Given the description of an element on the screen output the (x, y) to click on. 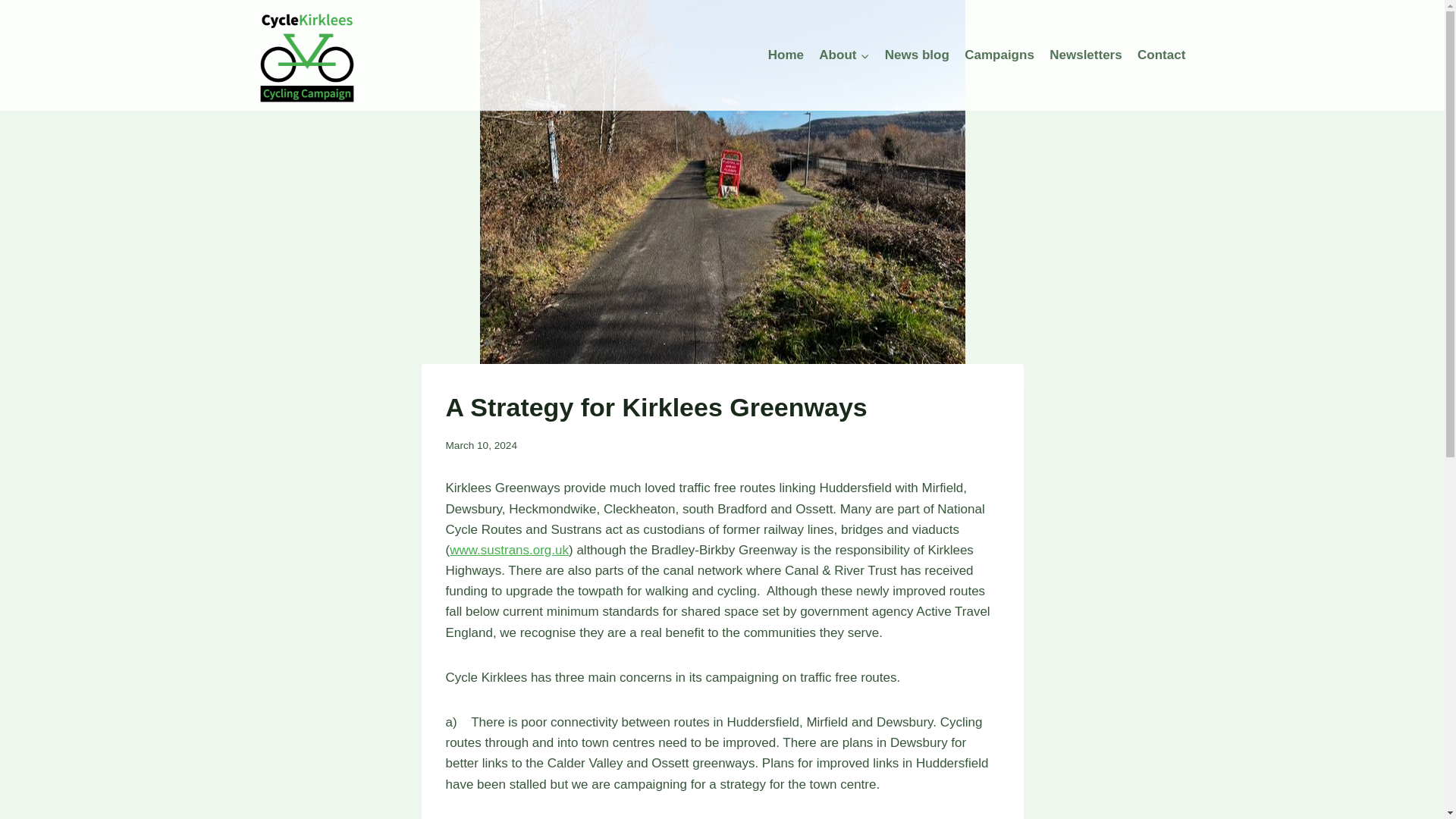
Contact (1161, 54)
News blog (916, 54)
Campaigns (999, 54)
About (843, 54)
Newsletters (1085, 54)
Home (786, 54)
www.sustrans.org.uk (509, 549)
